Given the description of an element on the screen output the (x, y) to click on. 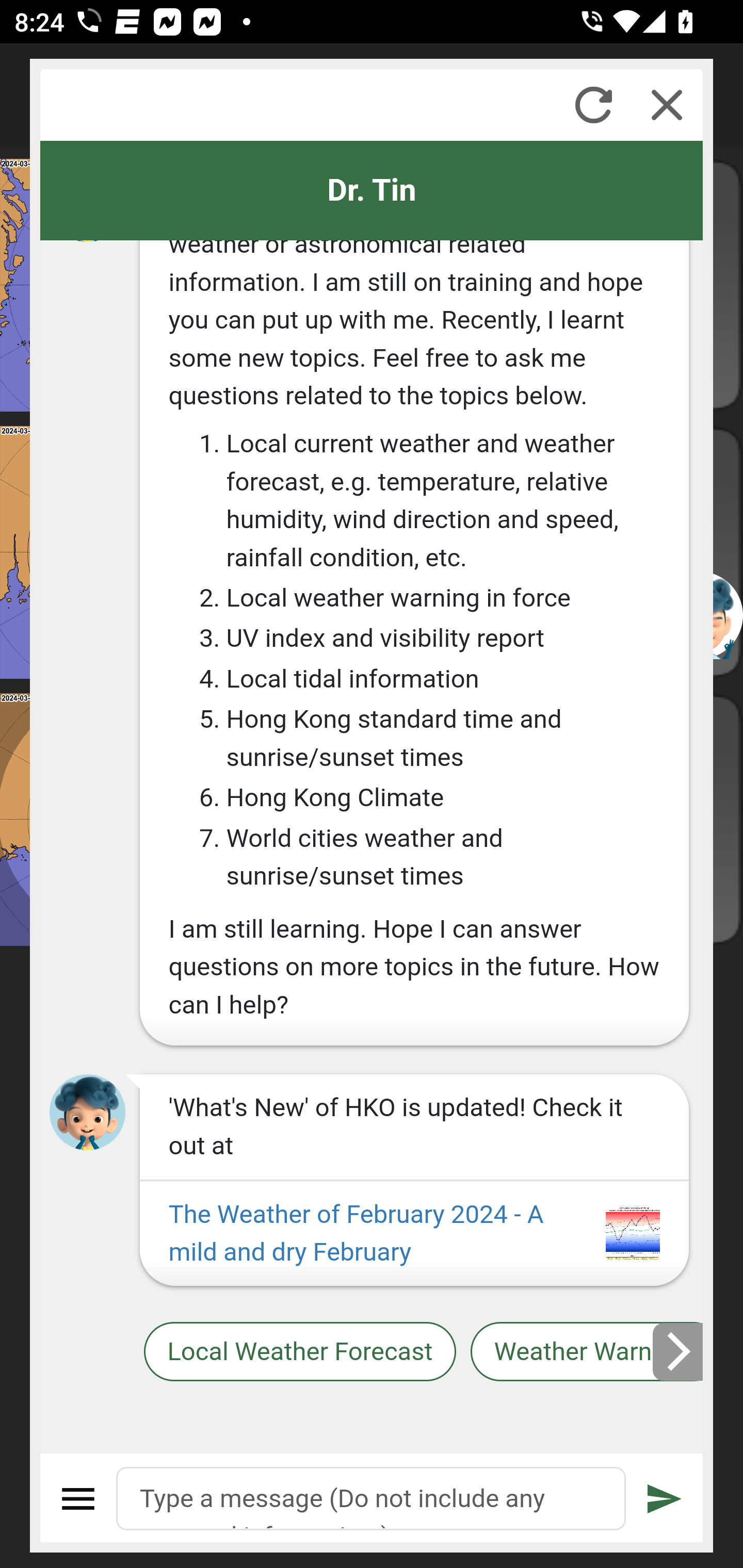
Refresh (593, 104)
Close (666, 104)
Local Weather Forecast (299, 1351)
Weather Warnings (587, 1351)
Next slide (678, 1351)
Menu (78, 1498)
Submit (665, 1498)
